Given the description of an element on the screen output the (x, y) to click on. 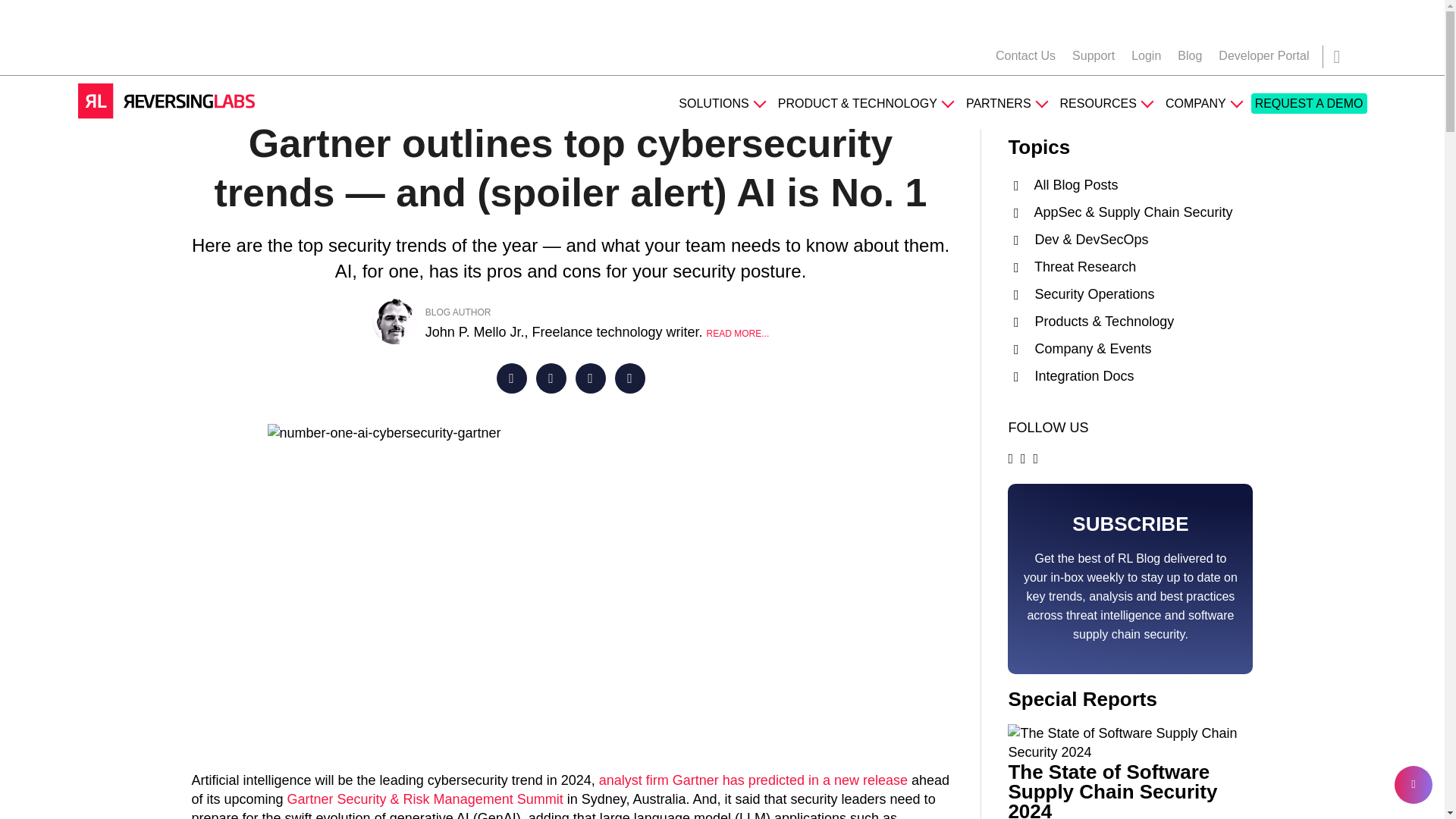
Linkedin (590, 378)
Facebook (510, 378)
X (550, 378)
Email (629, 378)
